Given the description of an element on the screen output the (x, y) to click on. 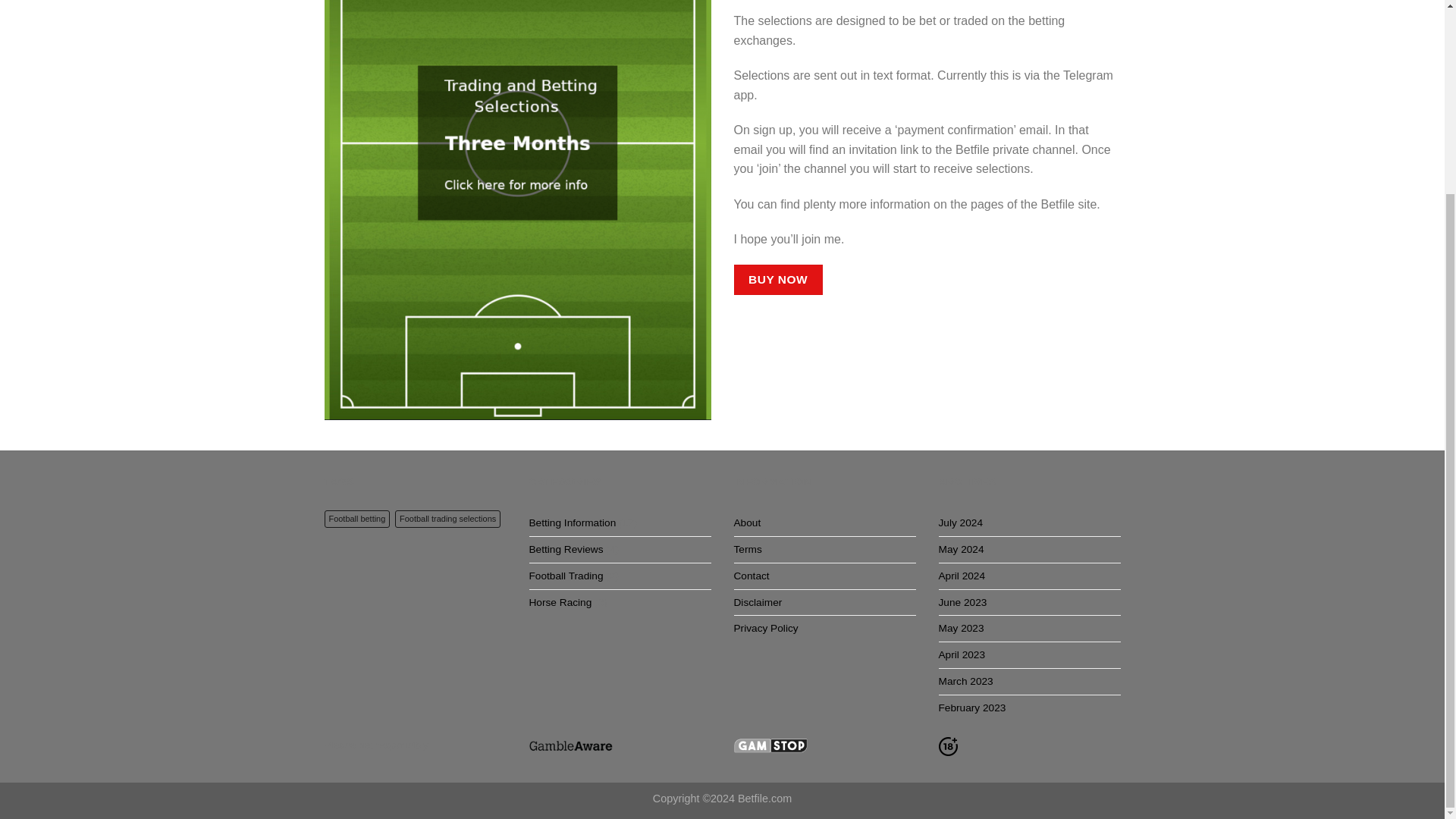
Horse Racing (560, 602)
Football Trading (566, 575)
About (747, 523)
BUY NOW (777, 279)
Betting Reviews (566, 549)
Football betting (357, 519)
Football trading selections (447, 519)
Betting Information (572, 523)
